Given the description of an element on the screen output the (x, y) to click on. 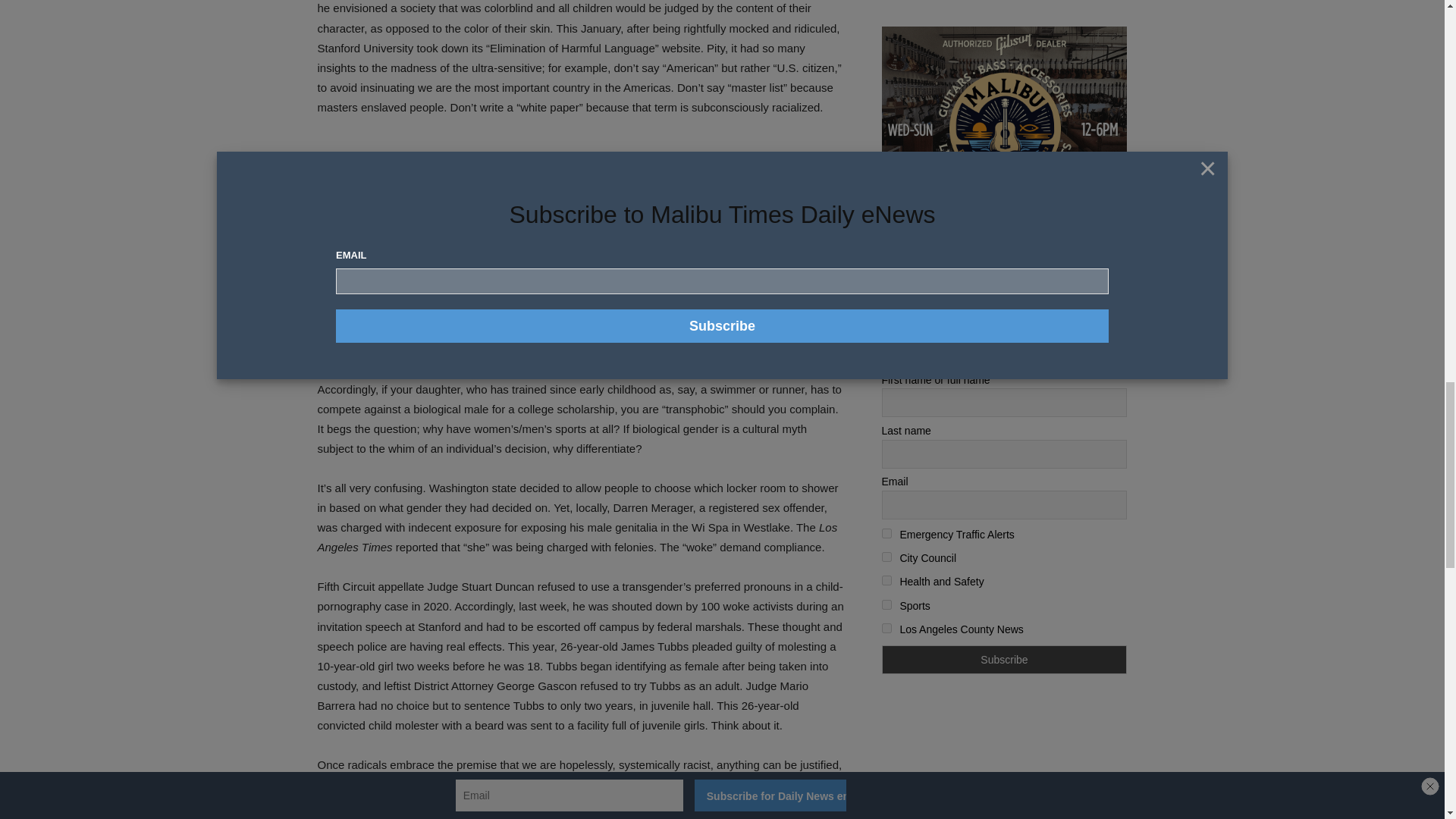
4 (885, 580)
5 (885, 604)
2 (885, 533)
3 (885, 556)
Subscribe (1003, 659)
6 (885, 628)
